Given the description of an element on the screen output the (x, y) to click on. 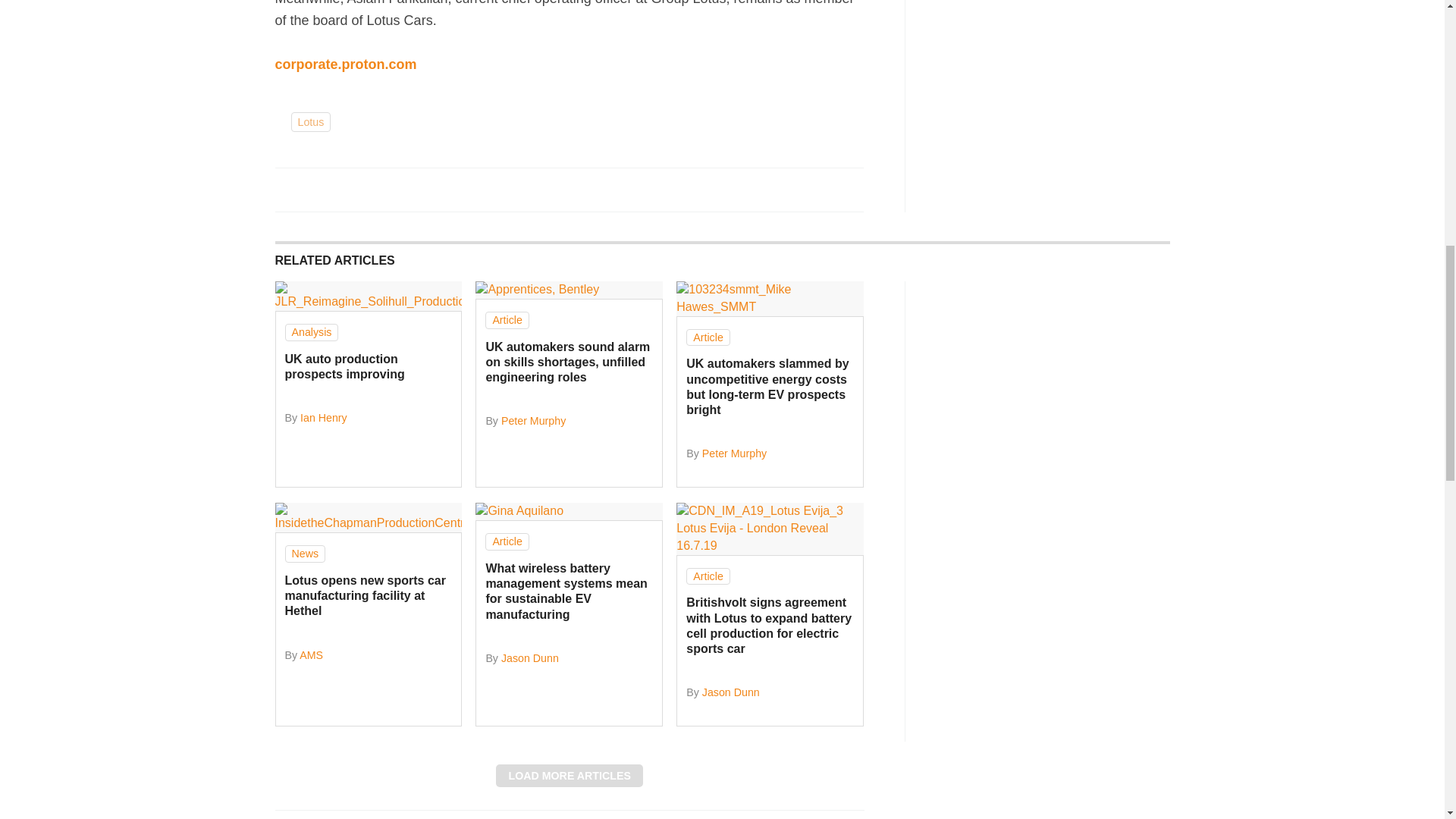
Share this on Twitter (320, 189)
Share this on Facebook (288, 189)
Share this on Linked in (352, 189)
Email this article (386, 189)
